Given the description of an element on the screen output the (x, y) to click on. 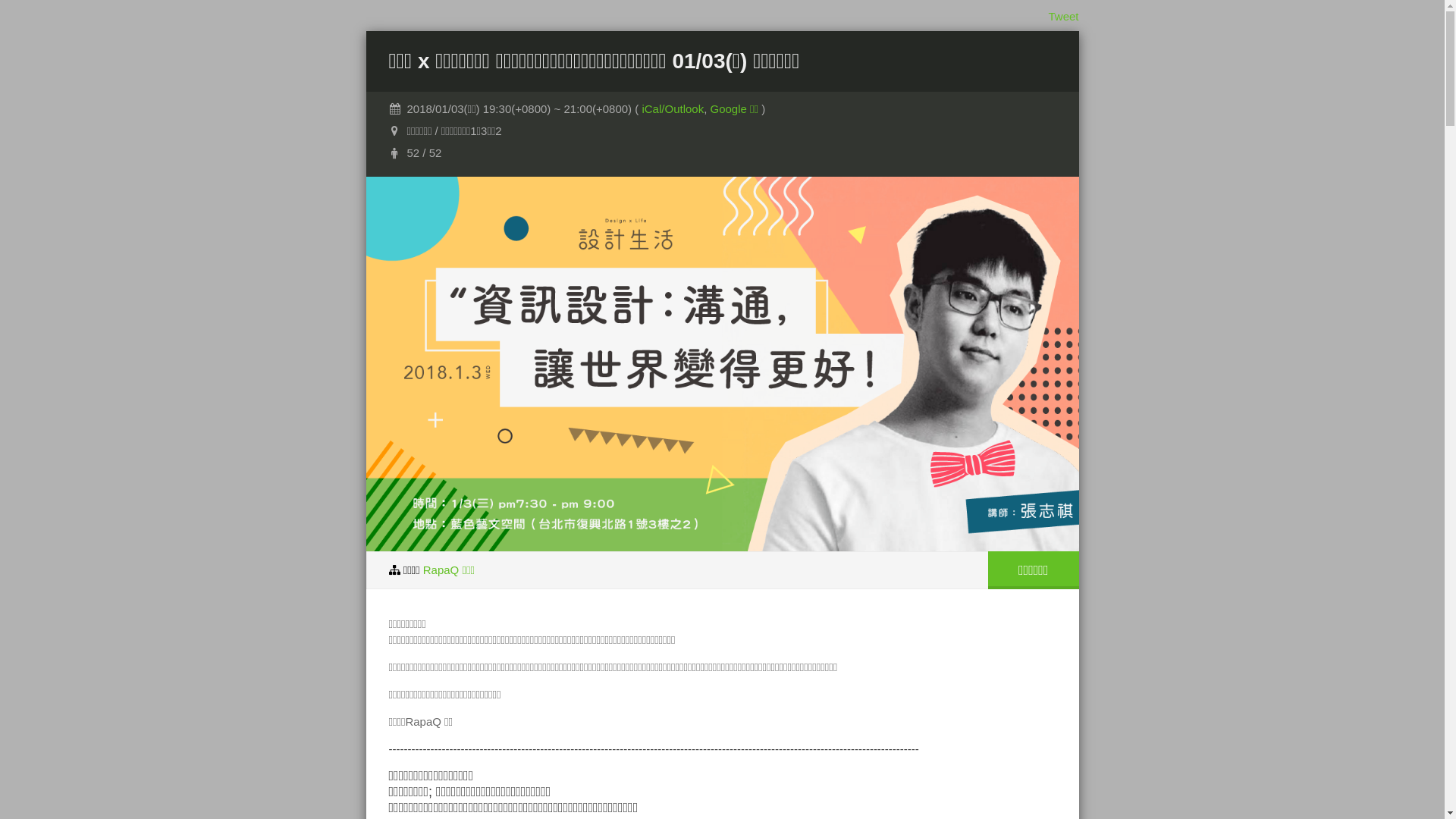
Tweet Element type: text (1063, 15)
iCal/Outlook Element type: text (672, 108)
